Given the description of an element on the screen output the (x, y) to click on. 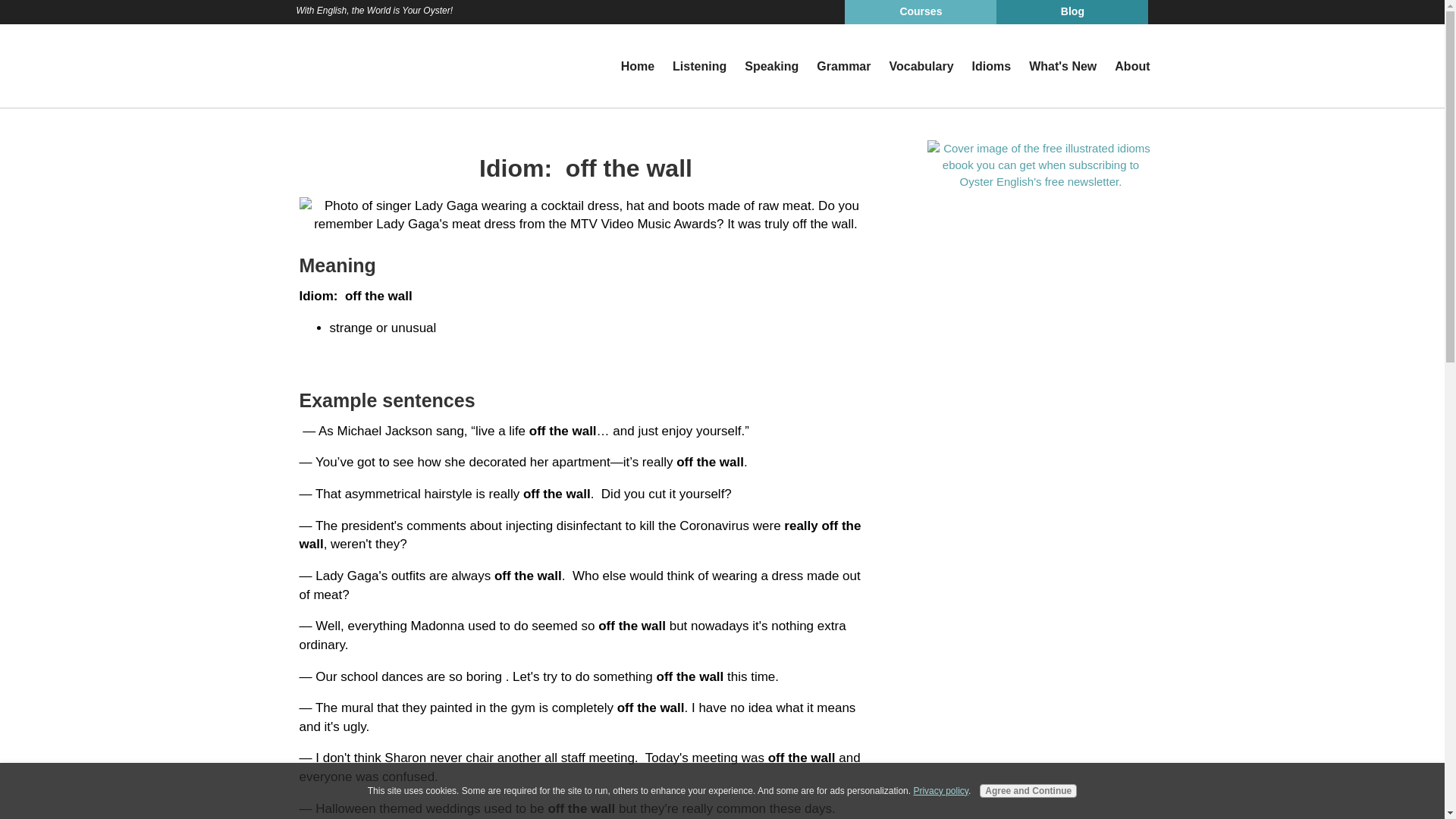
Subscribe to our newsletter (1040, 164)
Courses (919, 12)
Blog (1071, 12)
Go to Signup and receive a free idioms ebook (1040, 180)
Home (637, 66)
Grammar (843, 66)
What's New (1062, 66)
OYSTERENGLISH.COM (360, 65)
Speaking (771, 66)
Vocabulary (920, 66)
